Given the description of an element on the screen output the (x, y) to click on. 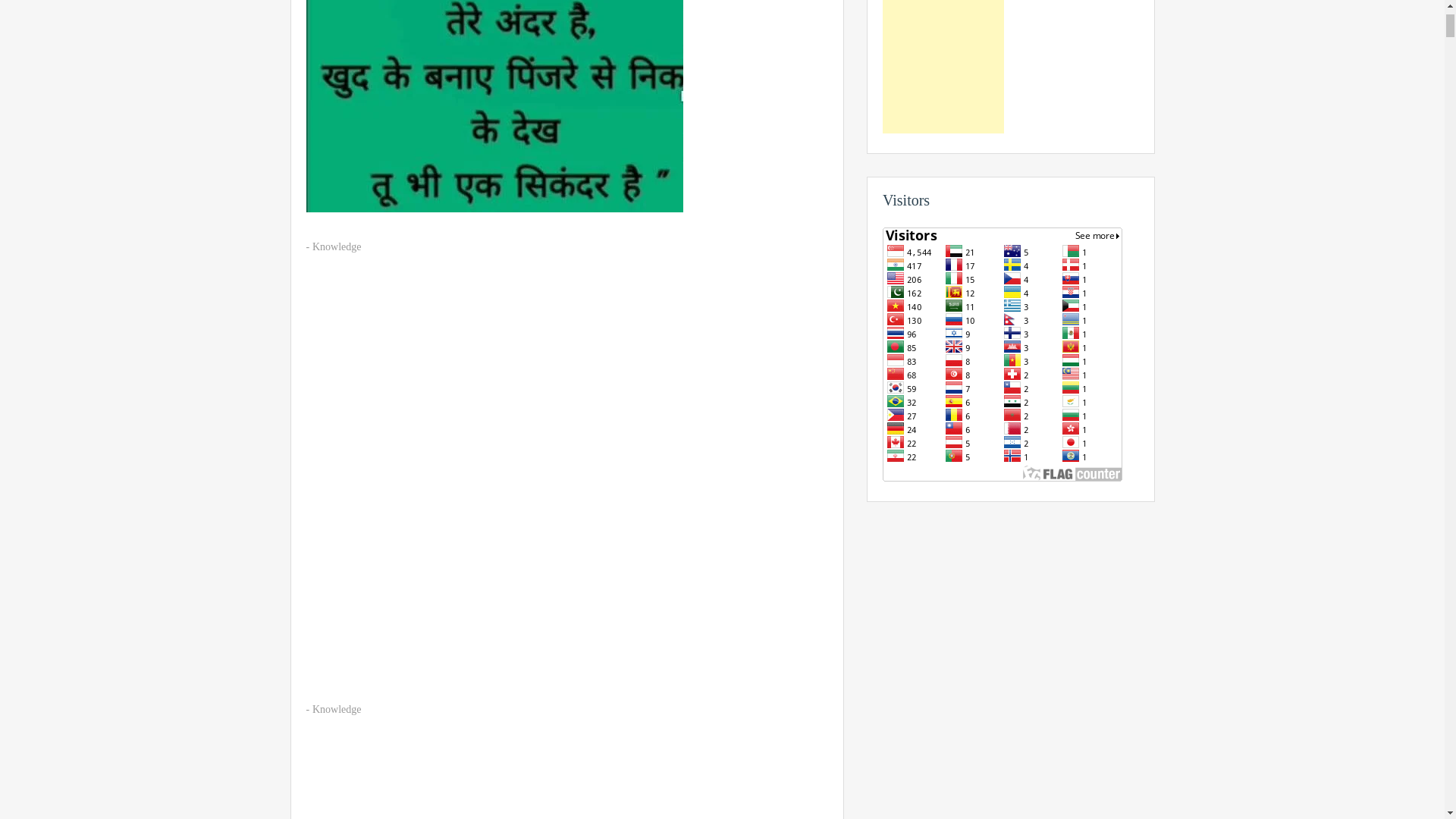
Knowledge (337, 708)
Knowledge (337, 246)
